Given the description of an element on the screen output the (x, y) to click on. 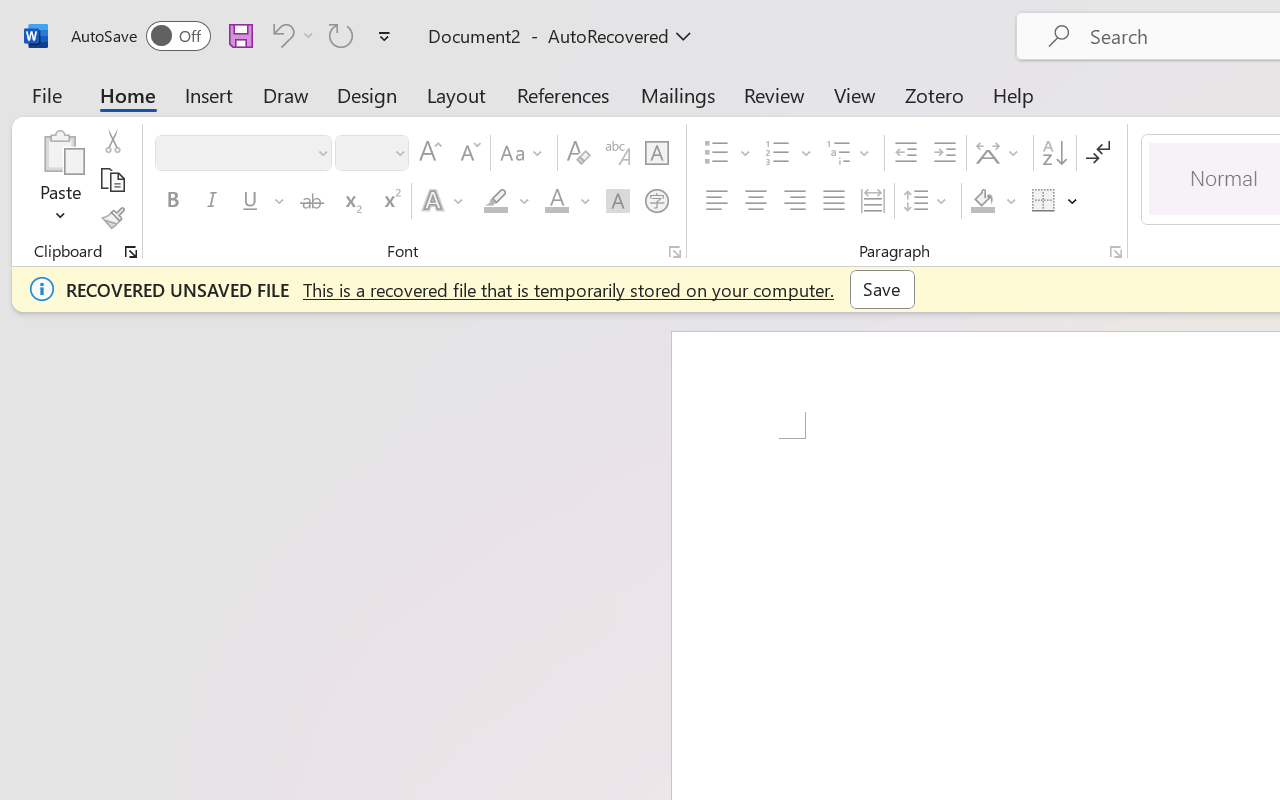
Text Highlight Color Yellow (495, 201)
Subscript (350, 201)
Font Color (567, 201)
Font... (675, 252)
Grow Font (430, 153)
Justify (834, 201)
